Given the description of an element on the screen output the (x, y) to click on. 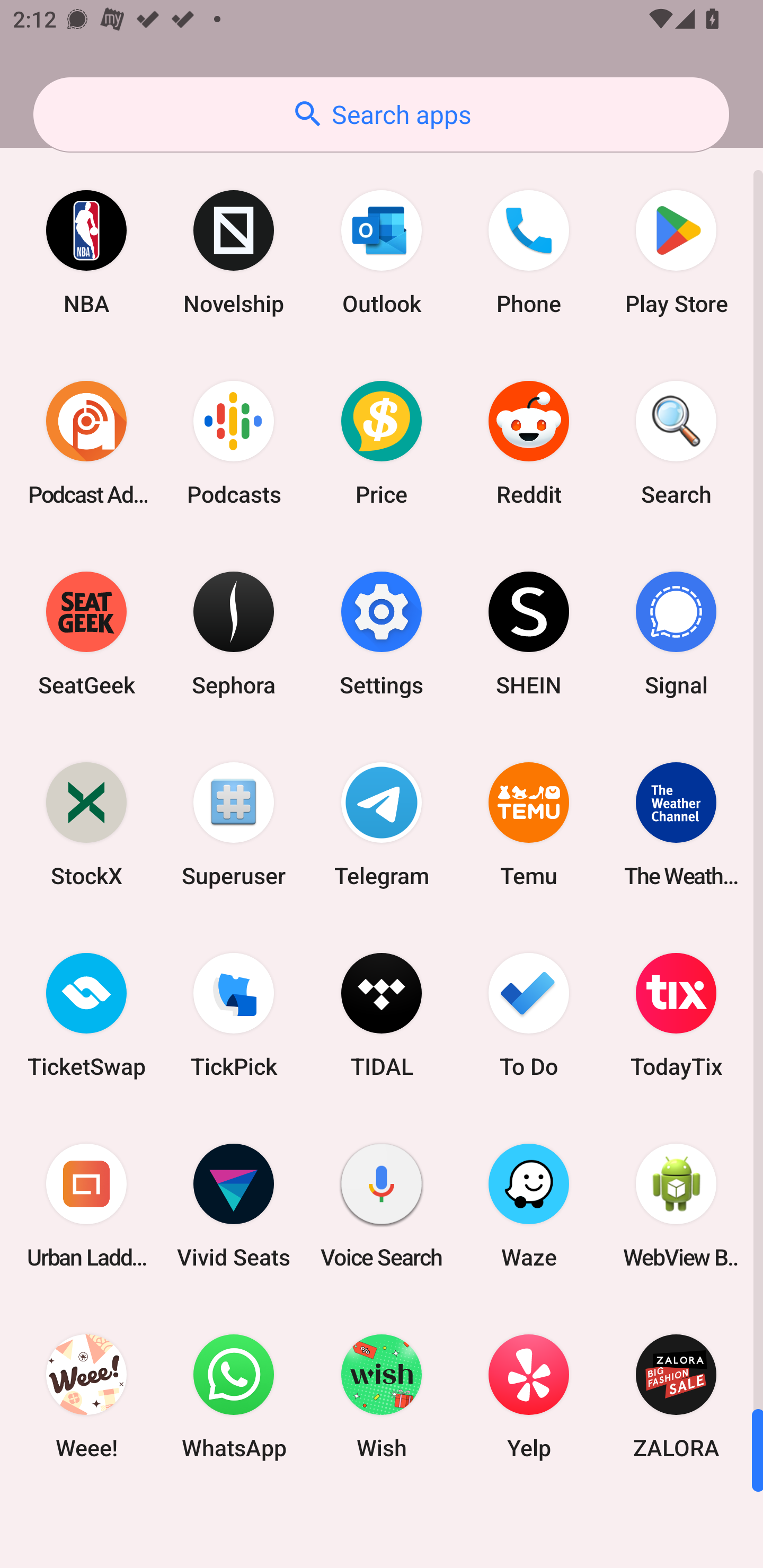
Signal (676, 633)
